Given the description of an element on the screen output the (x, y) to click on. 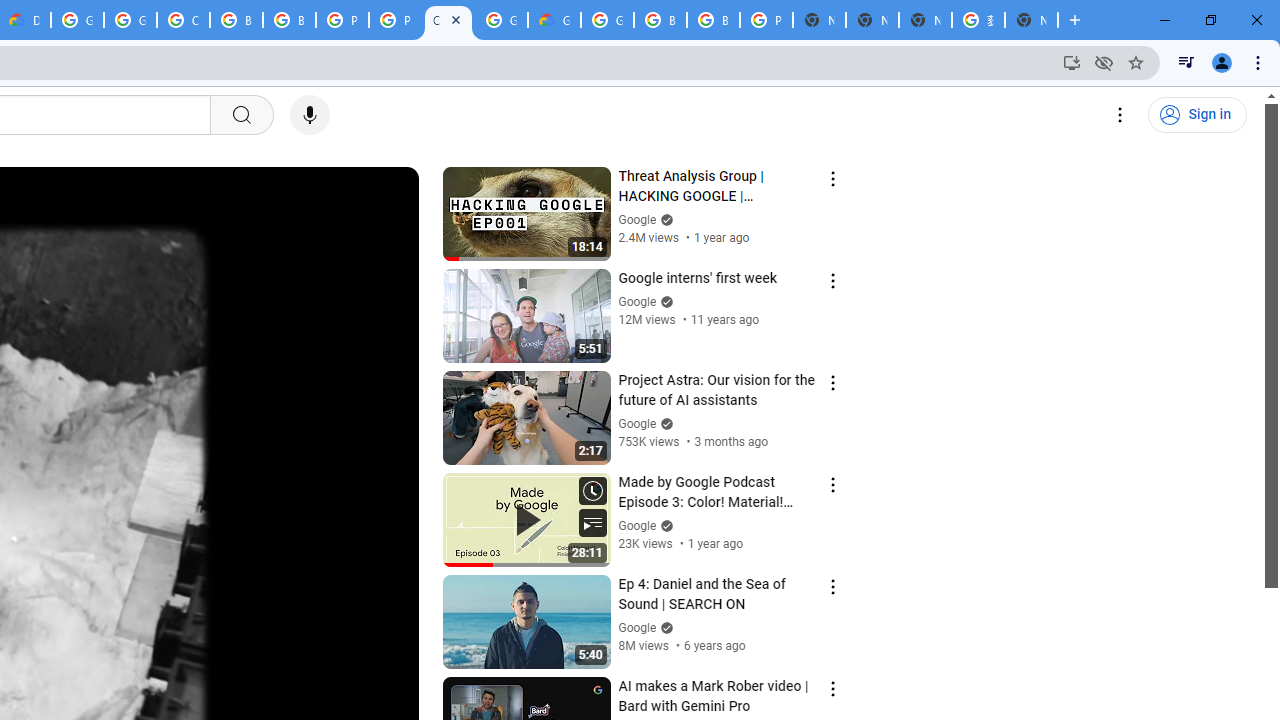
Google Cloud Platform (501, 20)
